Given the description of an element on the screen output the (x, y) to click on. 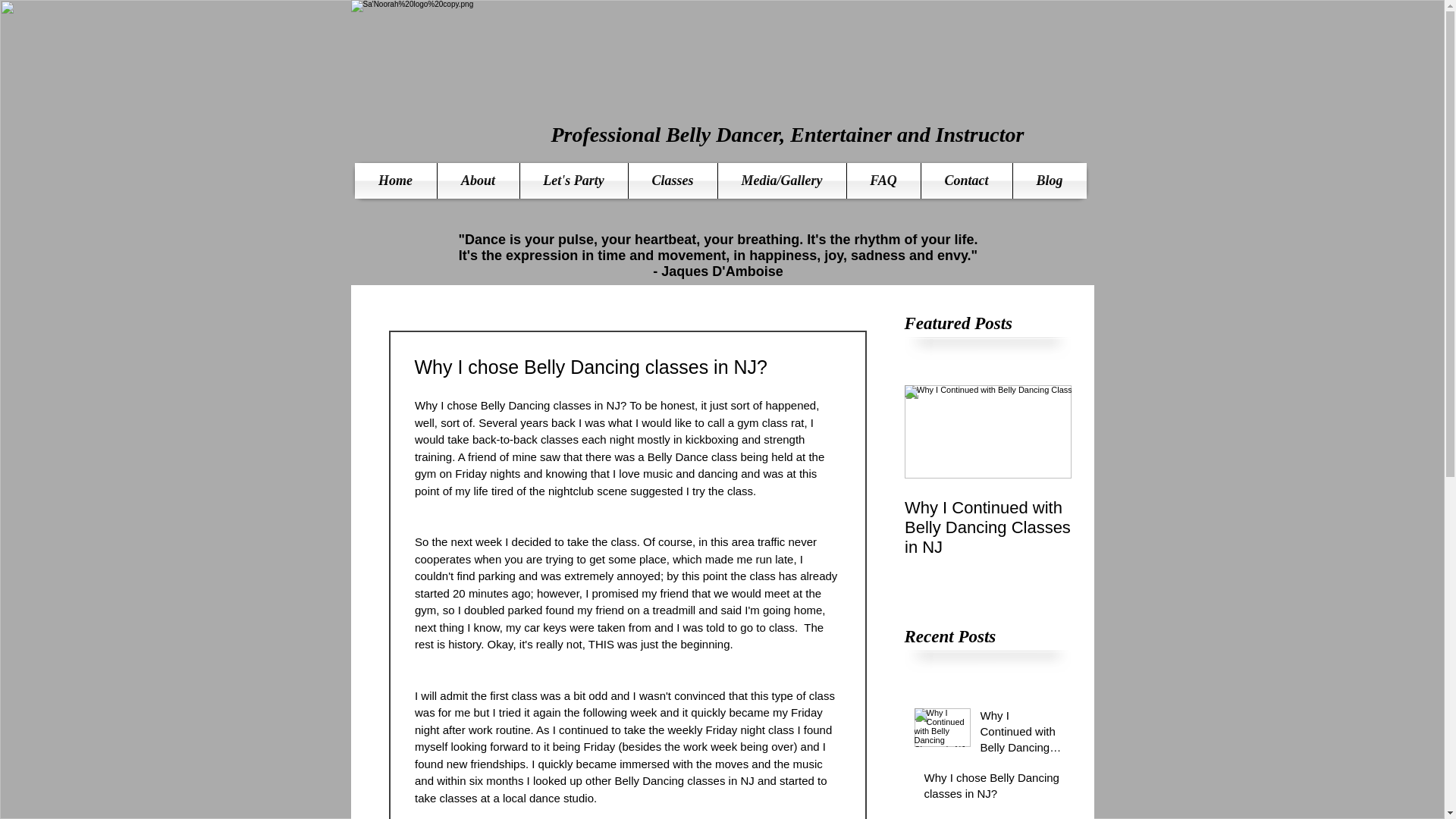
Sa'Noorah logo copy.png (529, 90)
Let's Party (573, 180)
Why I Continued with Belly Dancing Classes in NJ (987, 527)
About (477, 180)
Contact (965, 180)
Why I chose Belly Dancing classes in NJ? (992, 788)
FAQ (882, 180)
Why I Continued with Belly Dancing Classes in NJ (1020, 734)
Blog (1049, 180)
Home (395, 180)
